Given the description of an element on the screen output the (x, y) to click on. 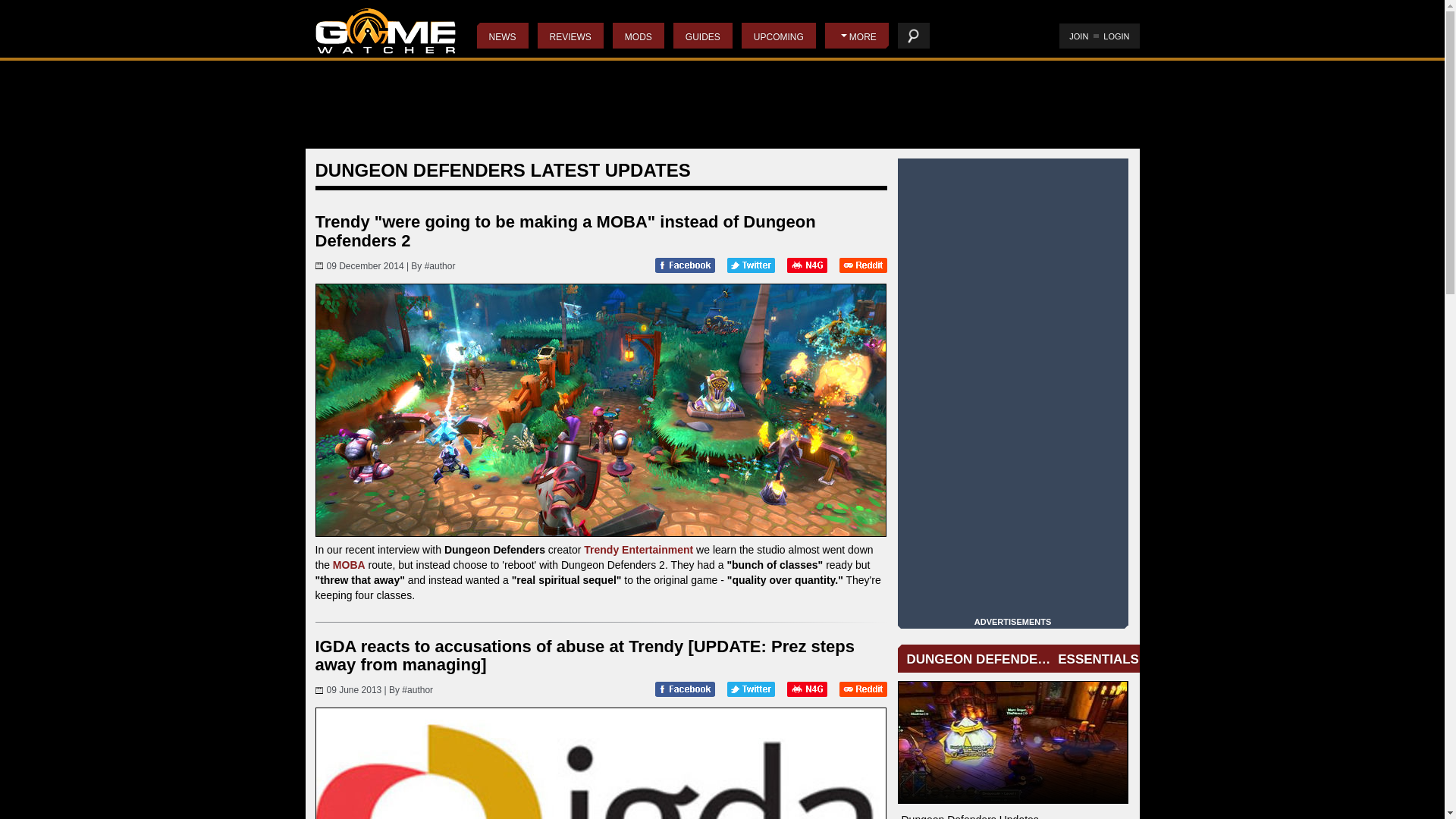
LOGIN (1116, 36)
JOIN (1078, 36)
Trendy Entertainment (638, 549)
REVIEWS (569, 35)
NEWS (501, 35)
UPCOMING (778, 35)
GUIDES (702, 35)
Dungeon Defenders (1013, 741)
MOBA (349, 564)
MODS (637, 35)
MORE (856, 35)
